Given the description of an element on the screen output the (x, y) to click on. 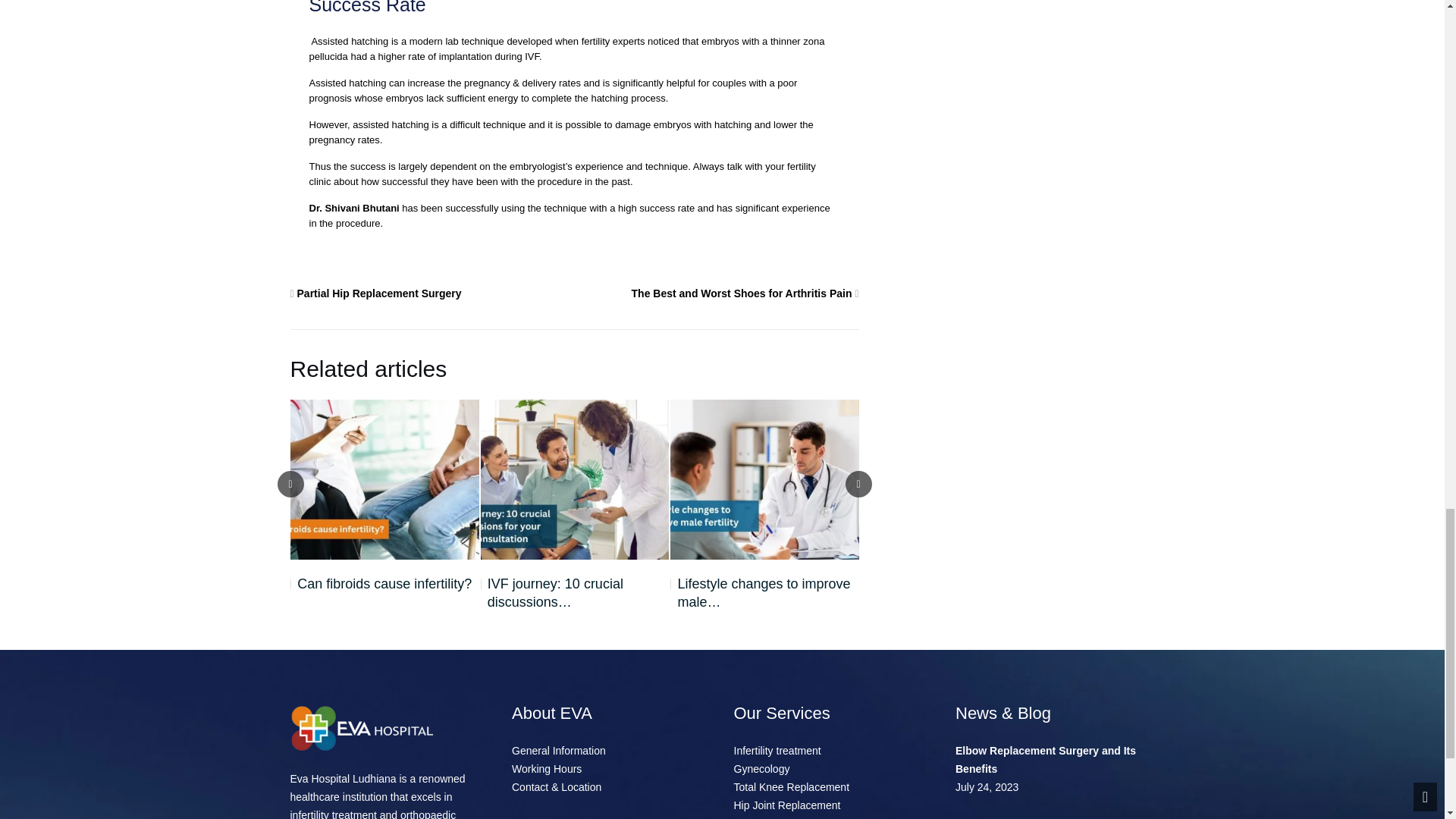
Can fibroids cause infertility? (380, 583)
Partial Hip Replacement Surgery (379, 293)
The Best and Worst Shoes for Arthritis Pain (741, 293)
Dr. Shivani Bhutani (353, 207)
